Given the description of an element on the screen output the (x, y) to click on. 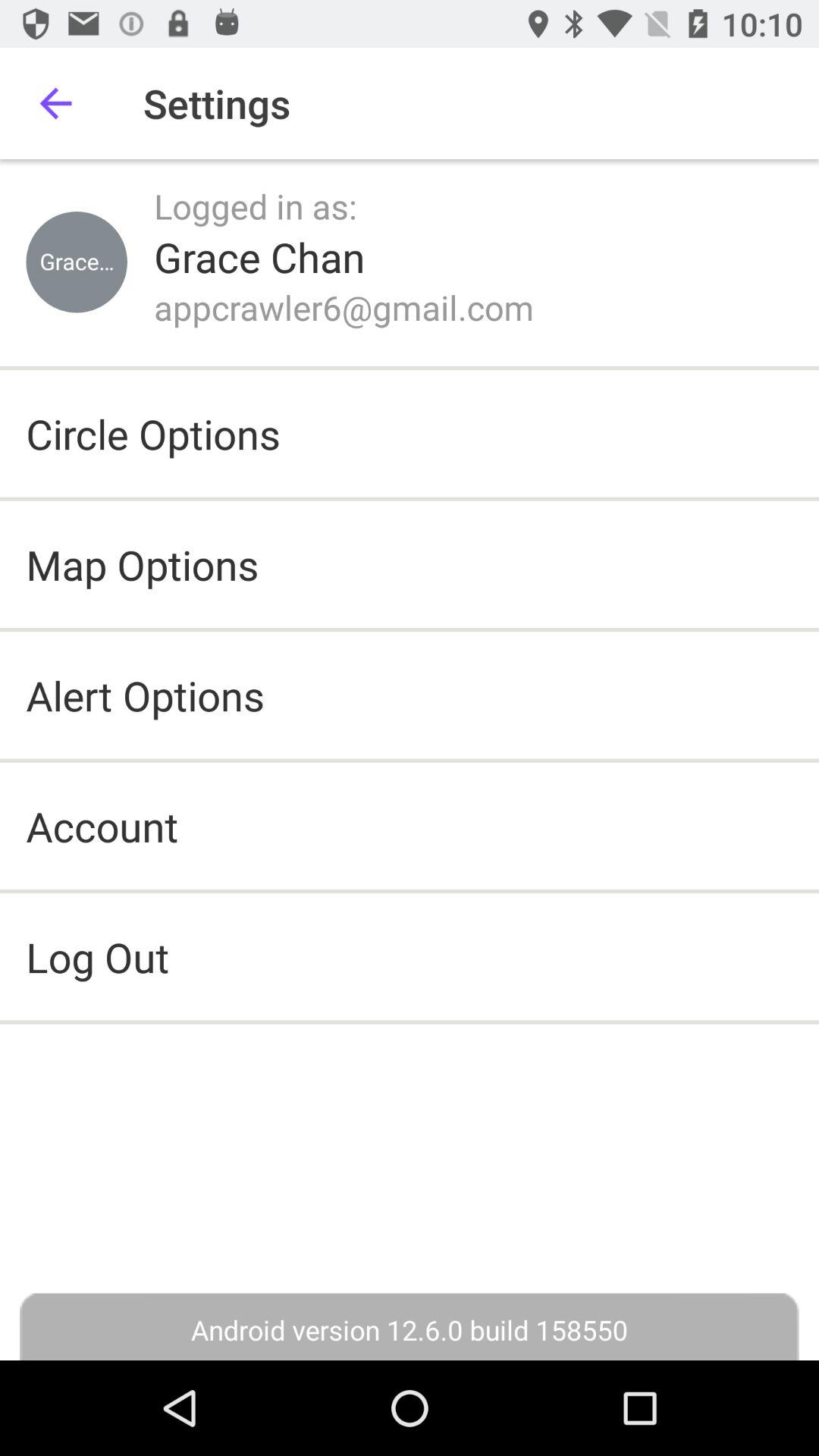
launch the item at the center (409, 956)
